Given the description of an element on the screen output the (x, y) to click on. 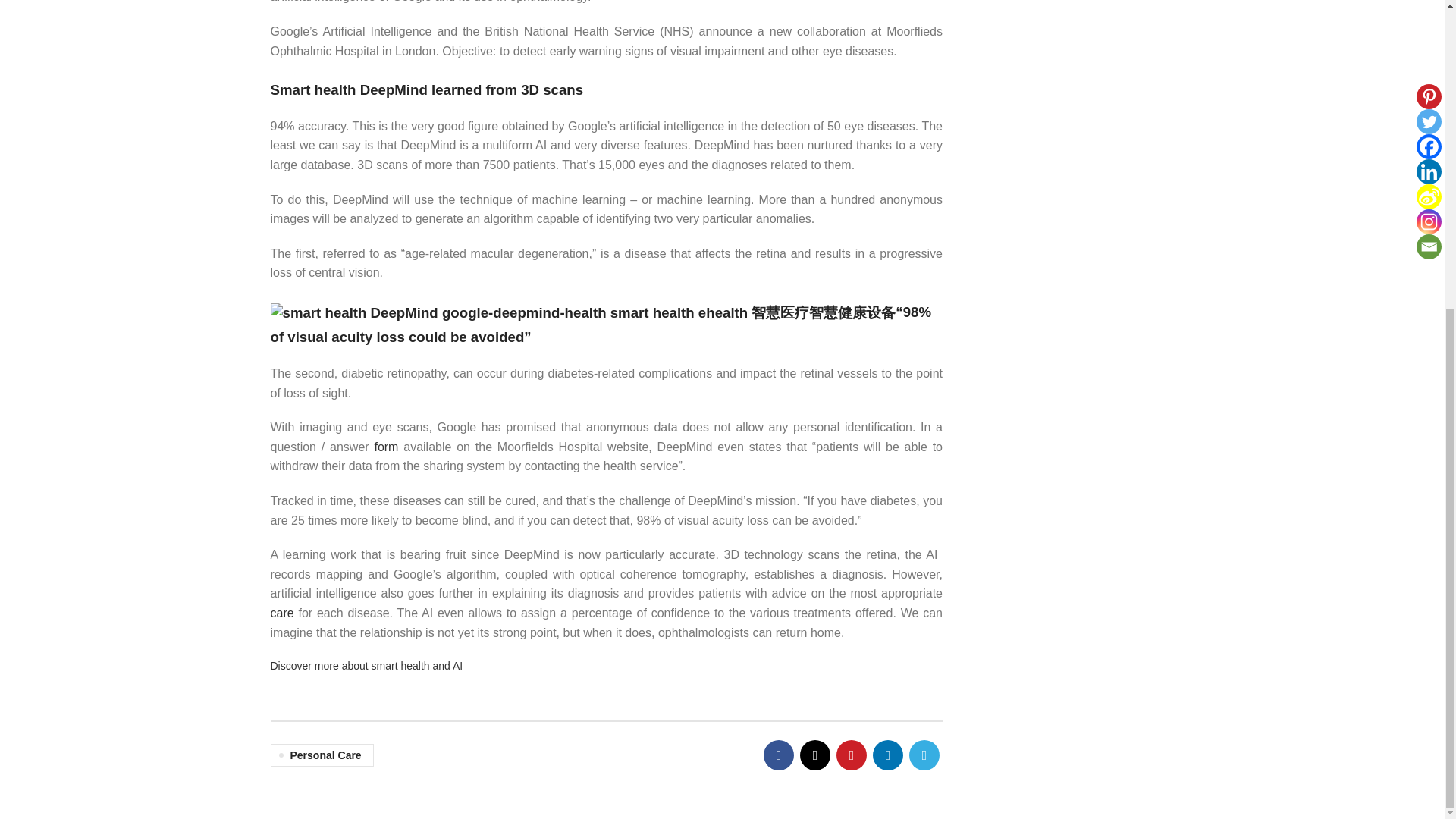
form (385, 446)
Personal Care (320, 754)
Discover more about smart health and AI (366, 665)
care (281, 612)
